Given the description of an element on the screen output the (x, y) to click on. 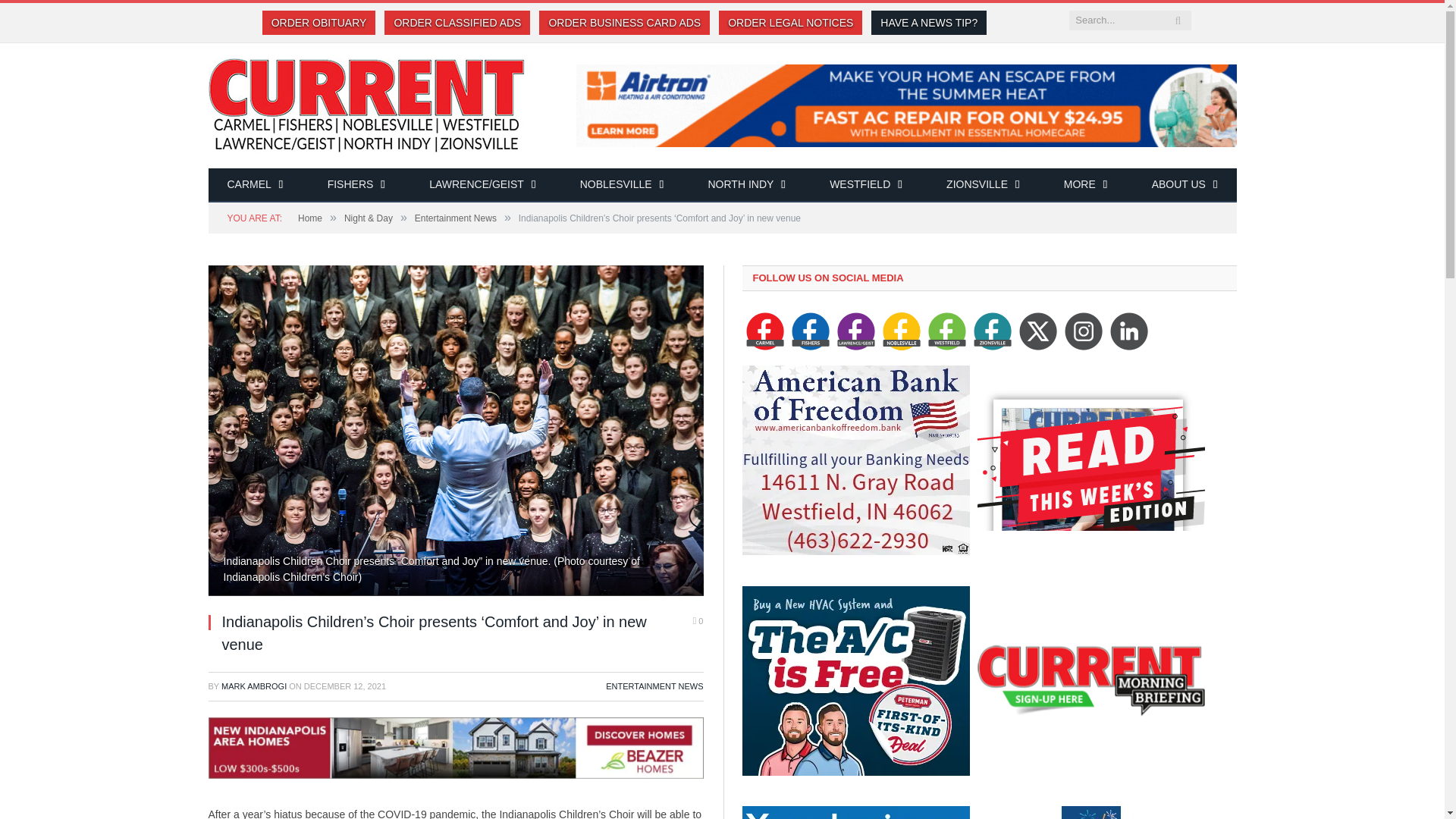
Current in Geist Facebook (856, 331)
CARMEL (254, 185)
Current in Westfield Facebook (947, 331)
ORDER OBITUARY (318, 22)
Current in Carmel Twitter (1083, 331)
2021-12-12 (344, 686)
Current in Zionsville Facebook (992, 331)
Current in Noblesville Facebook (901, 331)
ORDER CLASSIFIED ADS (456, 22)
ORDER BUSINESS CARD ADS (624, 22)
HAVE A NEWS TIP? (928, 22)
Current Publishing (366, 102)
Current in Carmel Twitter (1038, 331)
ORDER LEGAL NOTICES (790, 22)
Current in Fishers Facebook (810, 331)
